Given the description of an element on the screen output the (x, y) to click on. 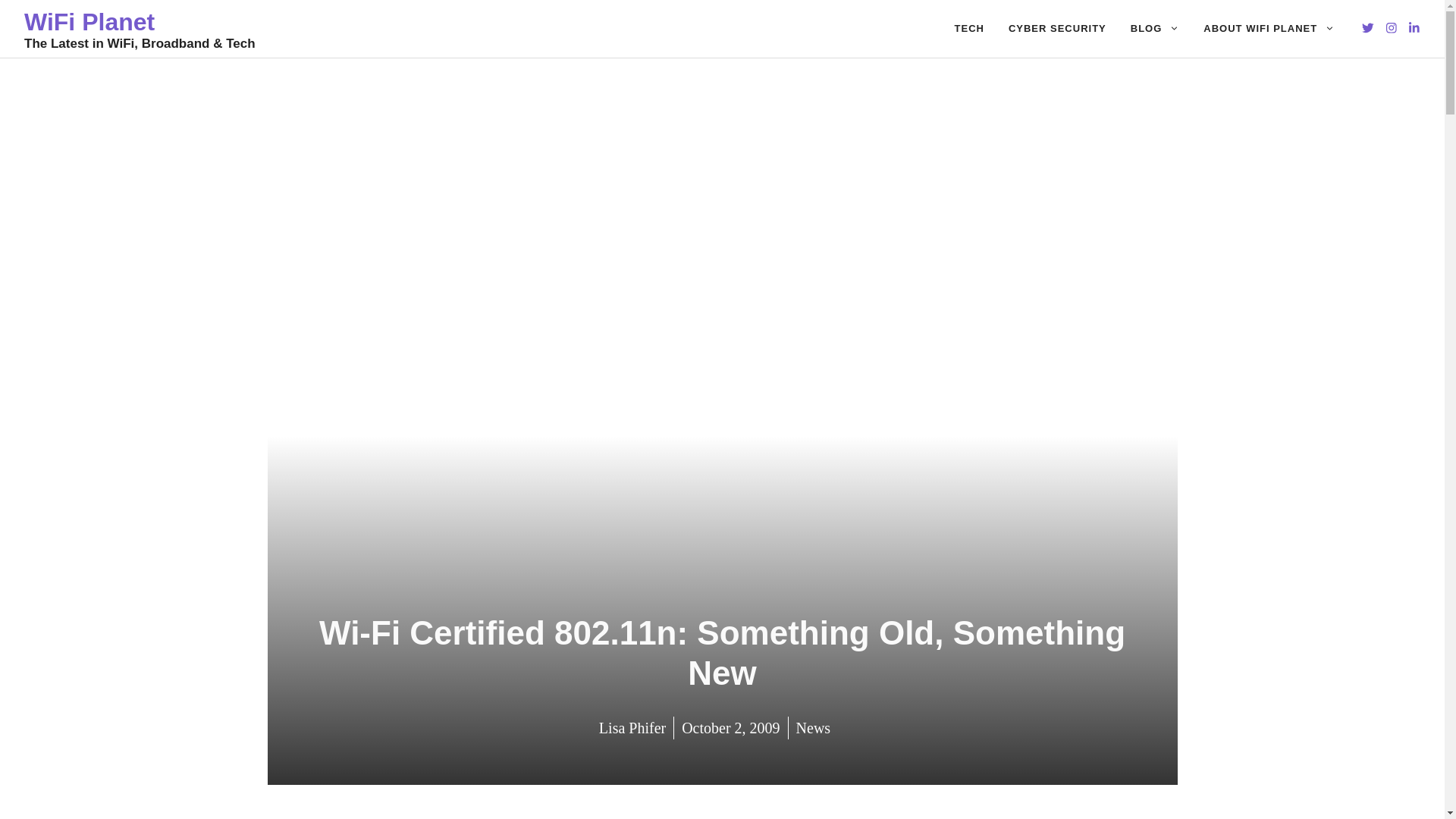
WiFi Planet (89, 22)
ABOUT WIFI PLANET (1268, 28)
TECH (968, 28)
CYBER SECURITY (1056, 28)
BLOG (1155, 28)
